Given the description of an element on the screen output the (x, y) to click on. 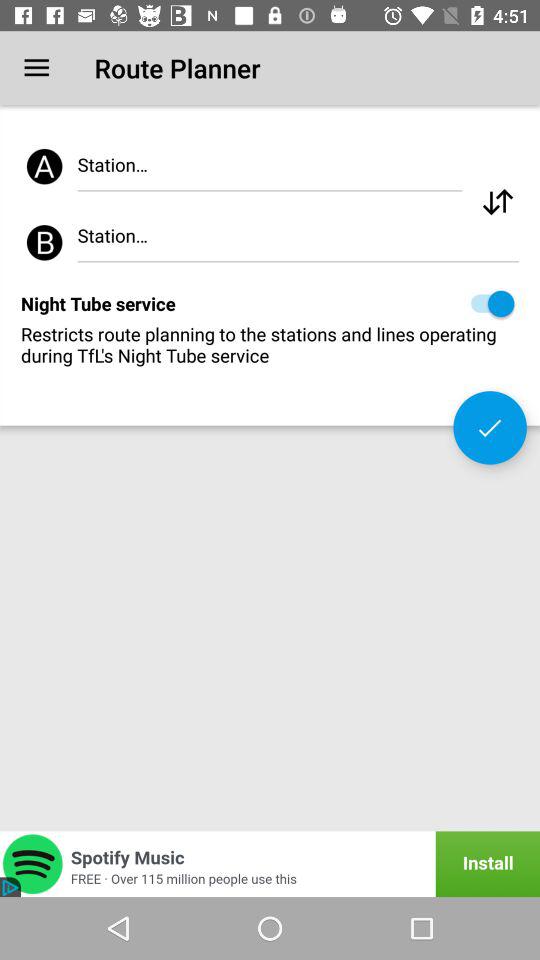
click the item at the top right corner (497, 202)
